Given the description of an element on the screen output the (x, y) to click on. 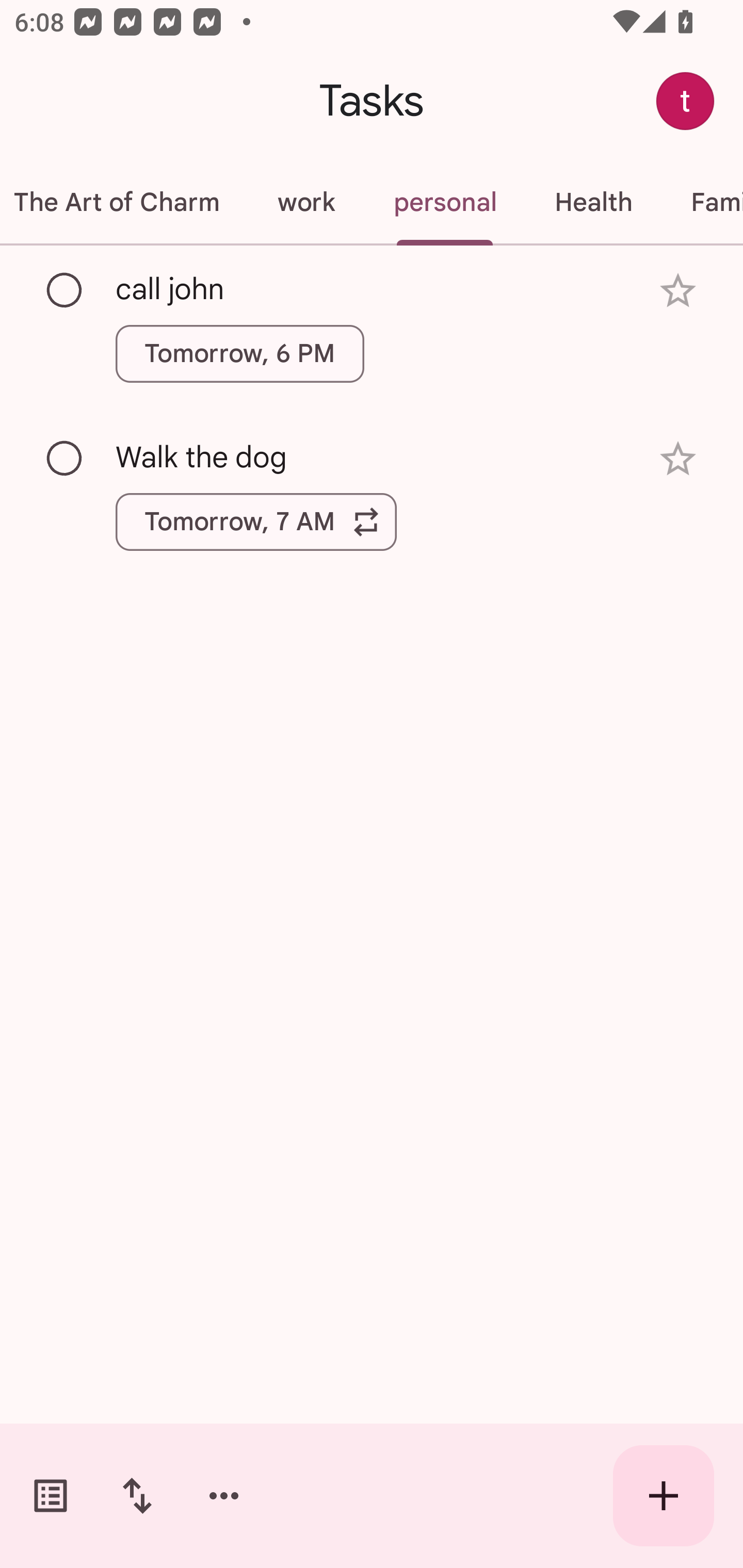
The Art of Charm (124, 202)
work (306, 202)
Health (593, 202)
Add star (677, 290)
Mark as complete (64, 290)
Tomorrow, 6 PM (239, 353)
Add star (677, 458)
Mark as complete (64, 459)
Tomorrow, 7 AM (255, 522)
Switch task lists (50, 1495)
Create new task (663, 1495)
Change sort order (136, 1495)
More options (223, 1495)
